Given the description of an element on the screen output the (x, y) to click on. 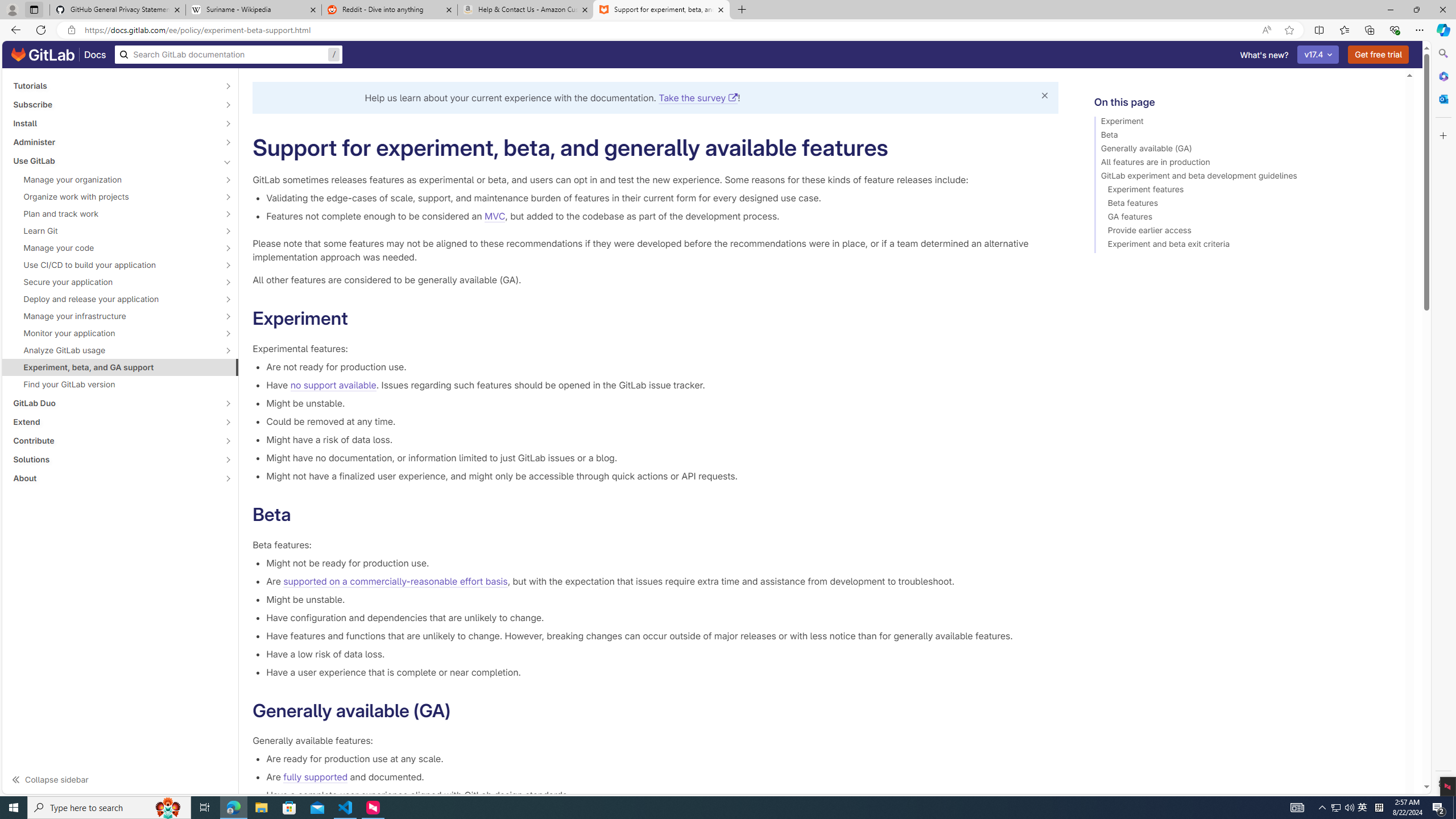
Experiment features (1244, 191)
Find your GitLab version (120, 384)
Experiment (1244, 123)
Generally available (GA) (1244, 150)
Deploy and release your application (113, 298)
